Given the description of an element on the screen output the (x, y) to click on. 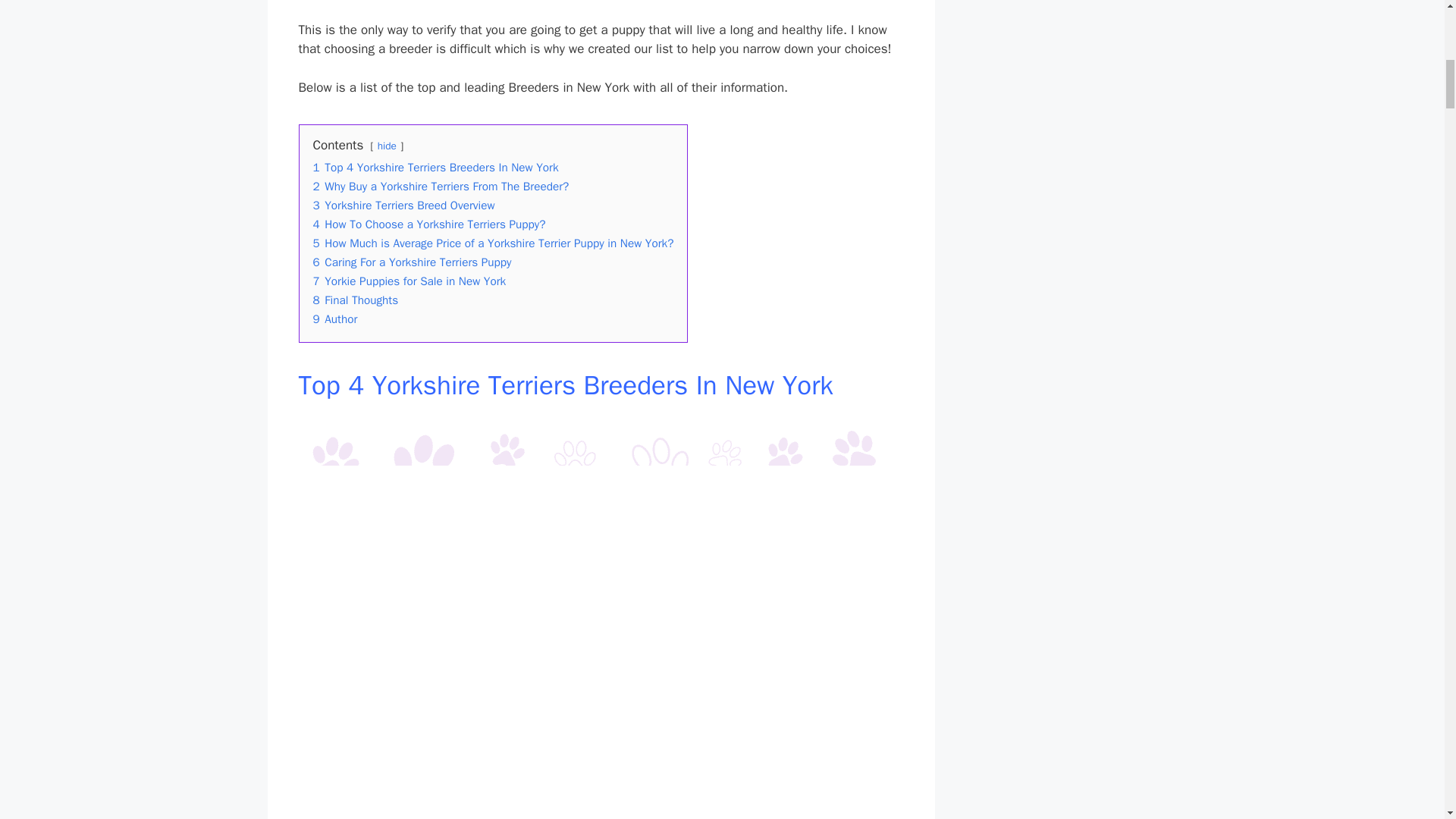
8 Final Thoughts (355, 299)
6 Caring For a Yorkshire Terriers Puppy (412, 262)
3 Yorkshire Terriers Breed Overview (404, 205)
1 Top 4 Yorkshire Terriers Breeders In New York (435, 167)
7 Yorkie Puppies for Sale in New York (409, 281)
4 How To Choose a Yorkshire Terriers Puppy? (428, 224)
hide (386, 145)
9 Author (334, 319)
2 Why Buy a Yorkshire Terriers From The Breeder? (441, 186)
